Given the description of an element on the screen output the (x, y) to click on. 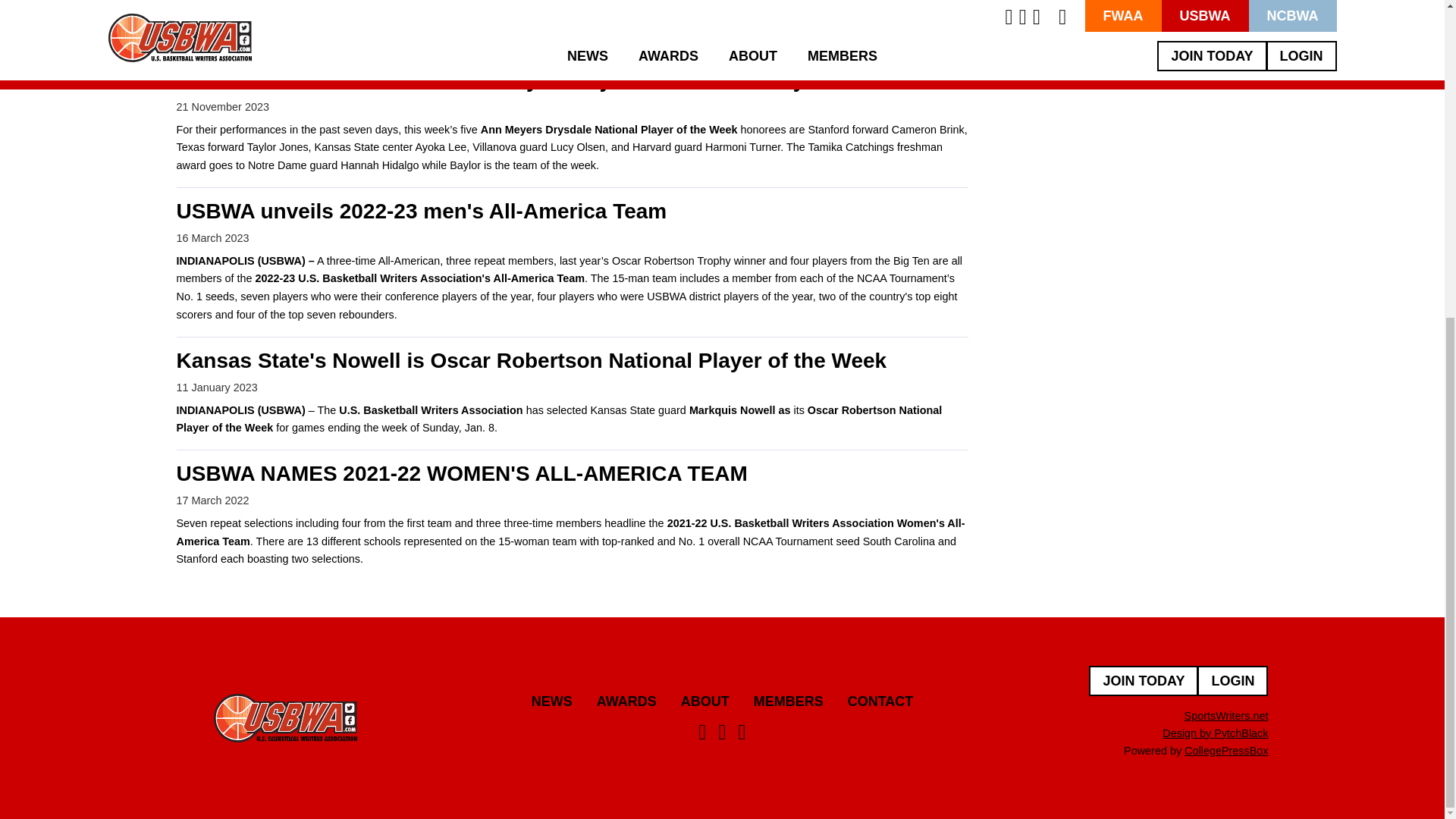
AWARDS (626, 701)
NEWS (551, 701)
ABOUT (705, 701)
MEMBERS (789, 701)
CONTACT (880, 701)
